Given the description of an element on the screen output the (x, y) to click on. 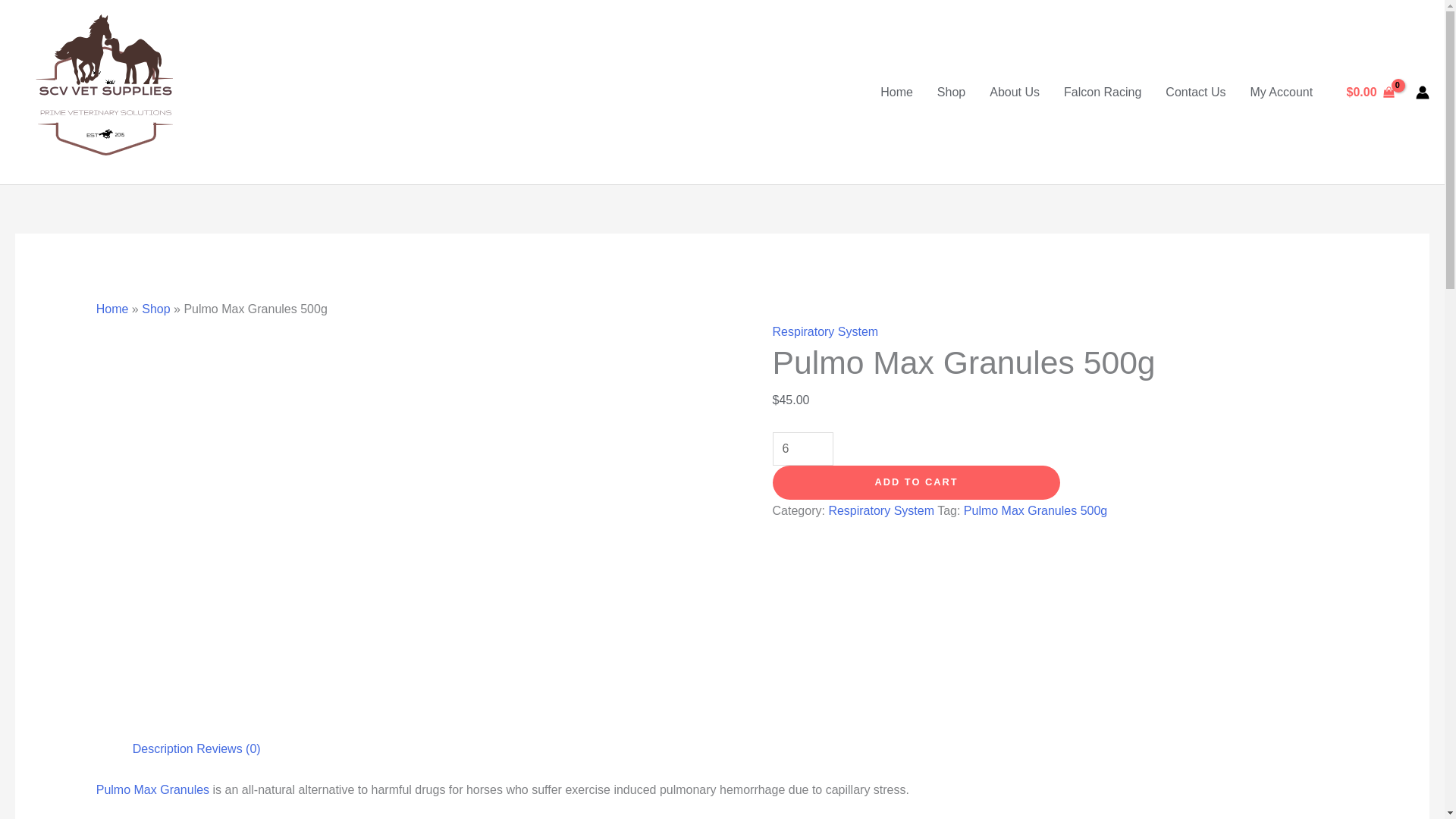
Shop (950, 91)
Home (112, 308)
ADD TO CART (917, 482)
Respiratory System (826, 331)
Respiratory System (881, 510)
6 (802, 449)
Description (162, 748)
Pulmo Max Granules (152, 789)
Home (895, 91)
Shop (155, 308)
